Given the description of an element on the screen output the (x, y) to click on. 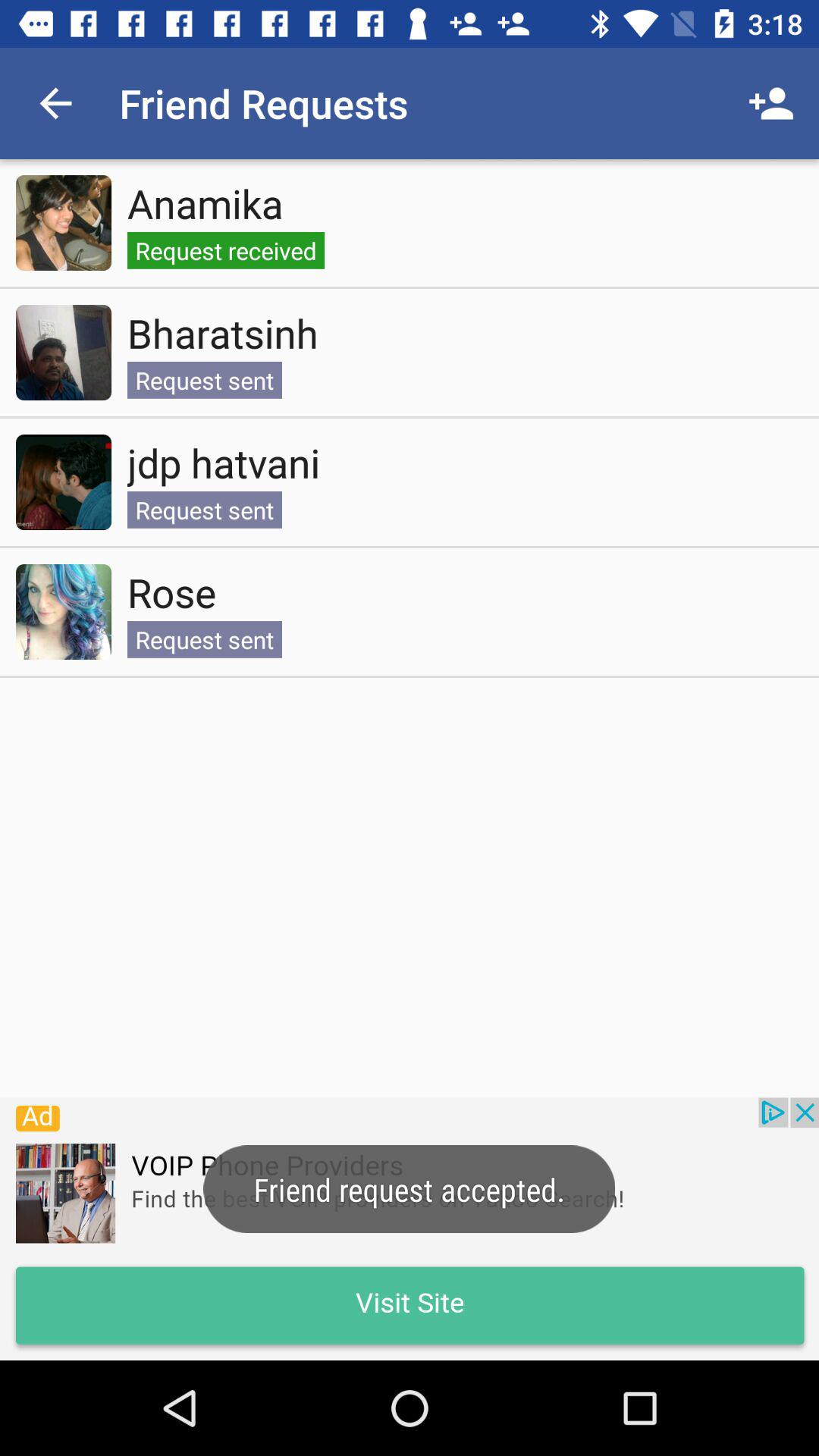
select user (63, 482)
